Given the description of an element on the screen output the (x, y) to click on. 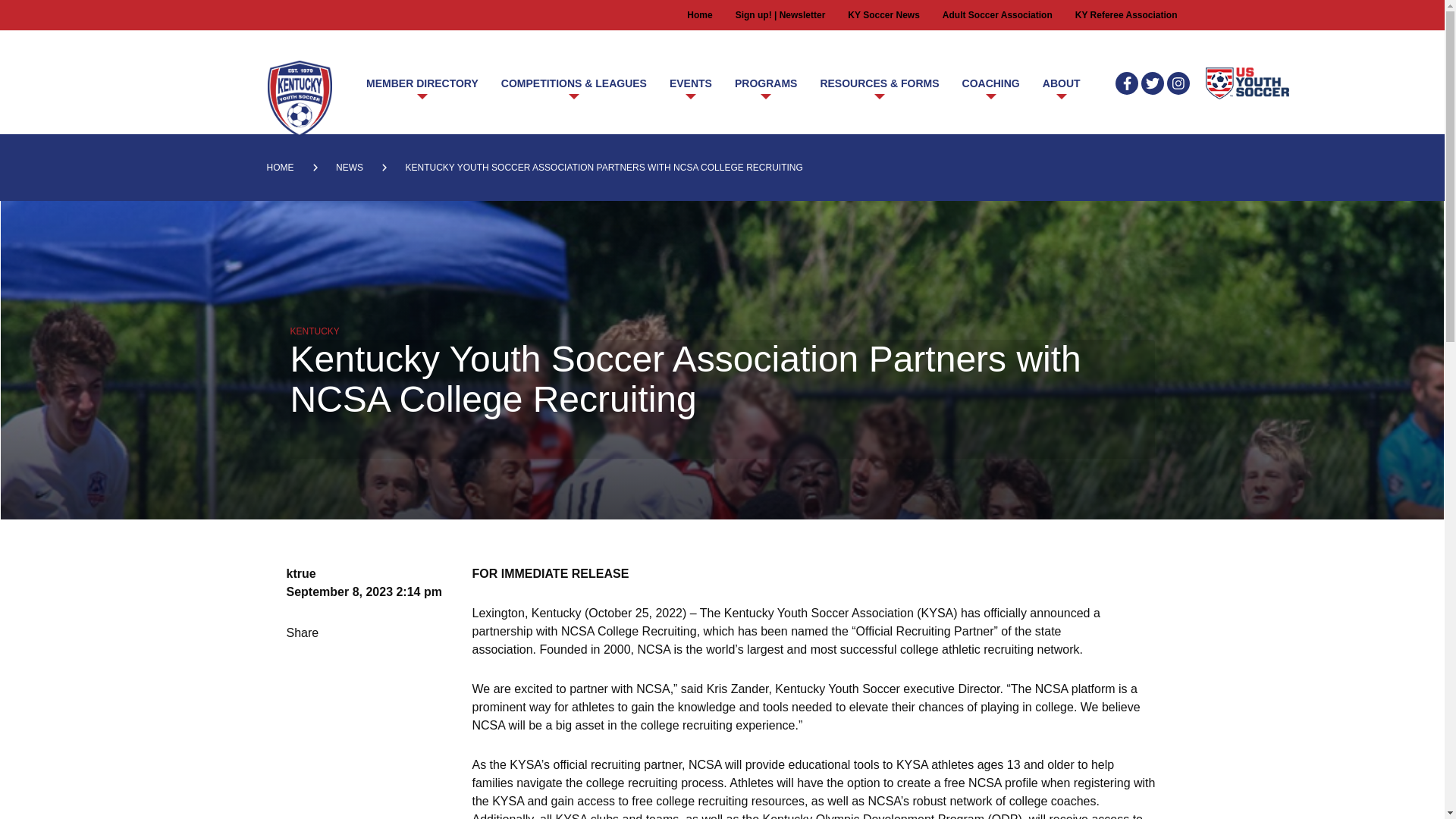
PROGRAMS (765, 83)
EVENTS (690, 83)
MEMBER DIRECTORY (422, 83)
Adult Soccer Association (997, 15)
KY Referee Association (1126, 15)
KY Soccer News (883, 15)
